Given the description of an element on the screen output the (x, y) to click on. 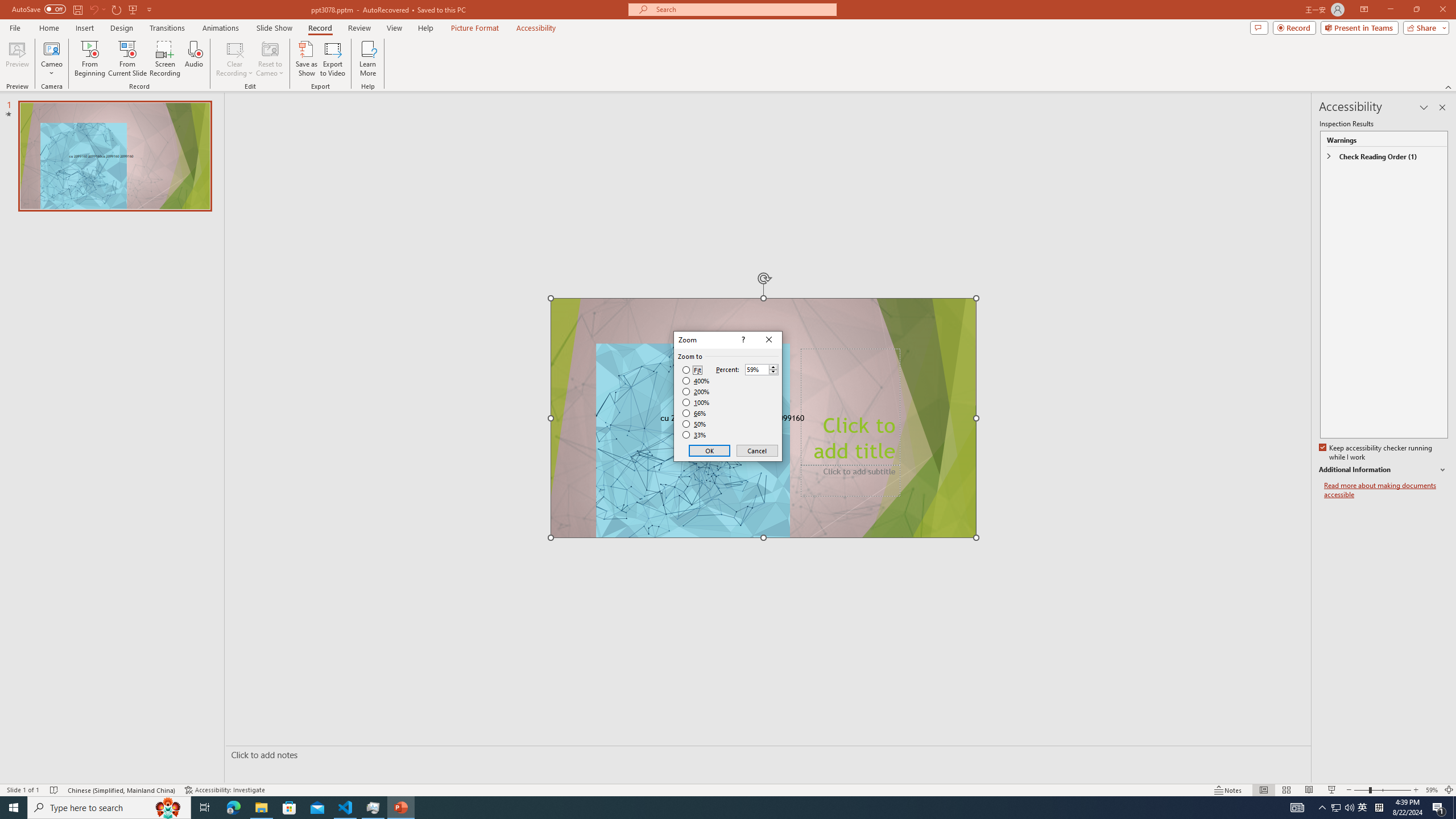
Task View (204, 807)
Search highlights icon opens search home window (167, 807)
Microsoft Edge (1362, 807)
Class: MsoCommandBar (233, 807)
Learn More (728, 789)
Type here to search (368, 58)
400% (108, 807)
Action Center, 1 new notification (696, 380)
Accessibility Checker Accessibility: Investigate (1439, 807)
